Given the description of an element on the screen output the (x, y) to click on. 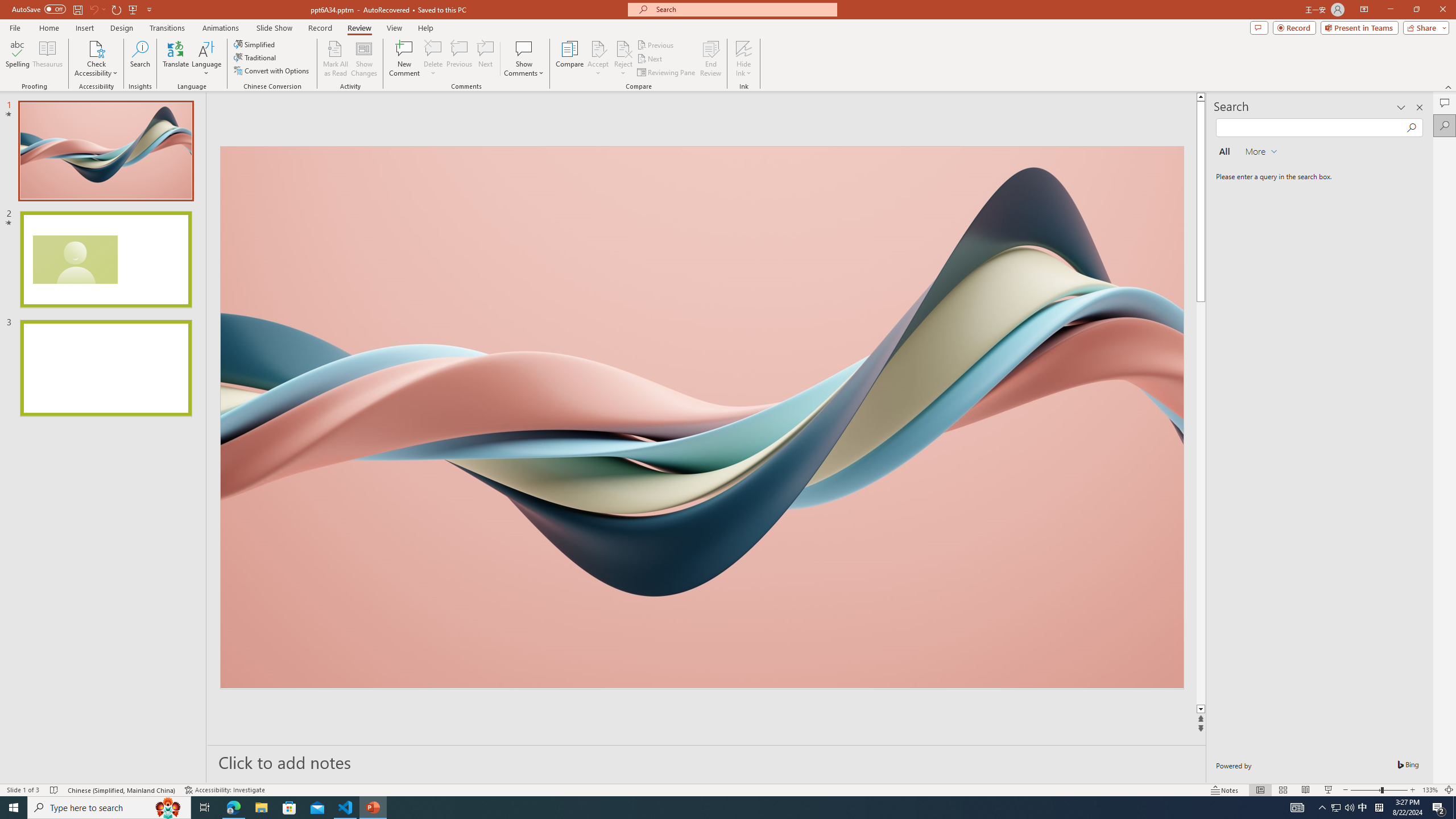
Accept (598, 58)
Traditional (255, 56)
